Given the description of an element on the screen output the (x, y) to click on. 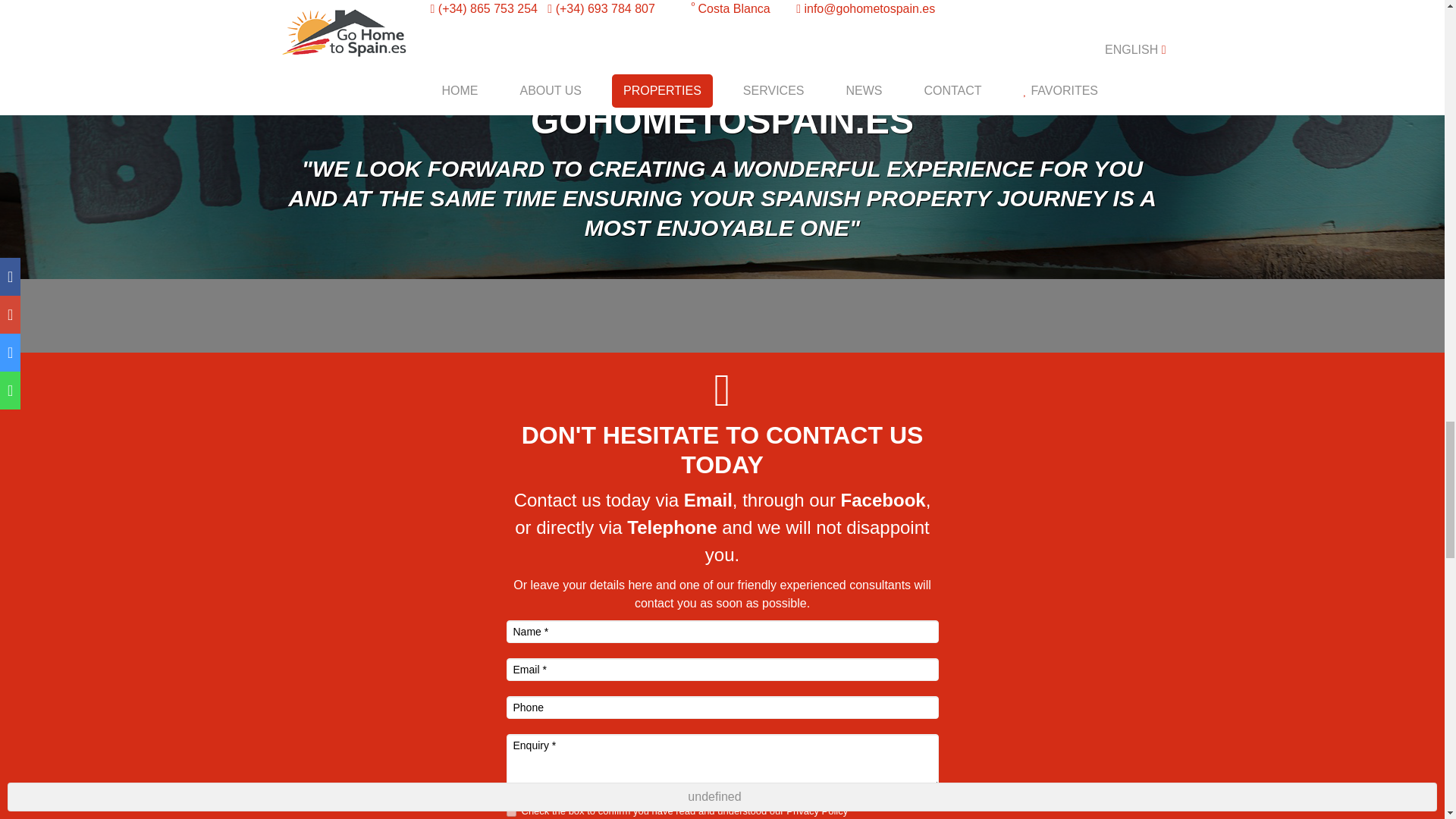
on (511, 811)
